Given the description of an element on the screen output the (x, y) to click on. 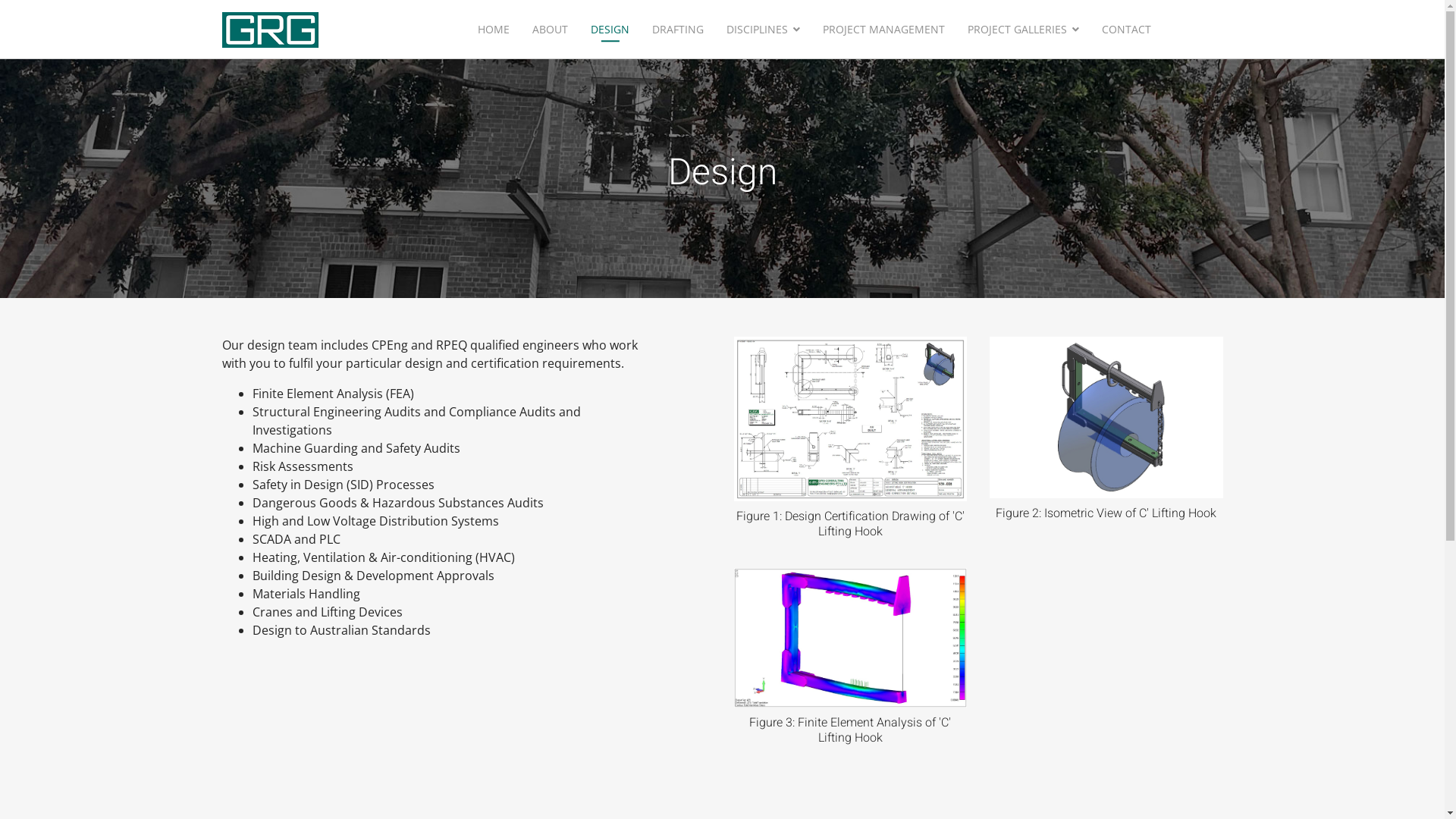
PROJECT GALLERIES Element type: text (1023, 29)
PROJECT MANAGEMENT Element type: text (883, 29)
CONTACT Element type: text (1126, 29)
DISCIPLINES Element type: text (763, 29)
HOME Element type: text (493, 29)
ABOUT Element type: text (549, 29)
DRAFTING Element type: text (677, 29)
DESIGN Element type: text (609, 29)
Figure 1: Design Certification Drawing of 'C' Lifting Hook Element type: hover (850, 418)
Figure 2: Isometric View of C' Lifting Hook Element type: hover (1106, 417)
Figure 3: Finite Element Analysis of 'C' Lifting Hook Element type: hover (850, 637)
